Given the description of an element on the screen output the (x, y) to click on. 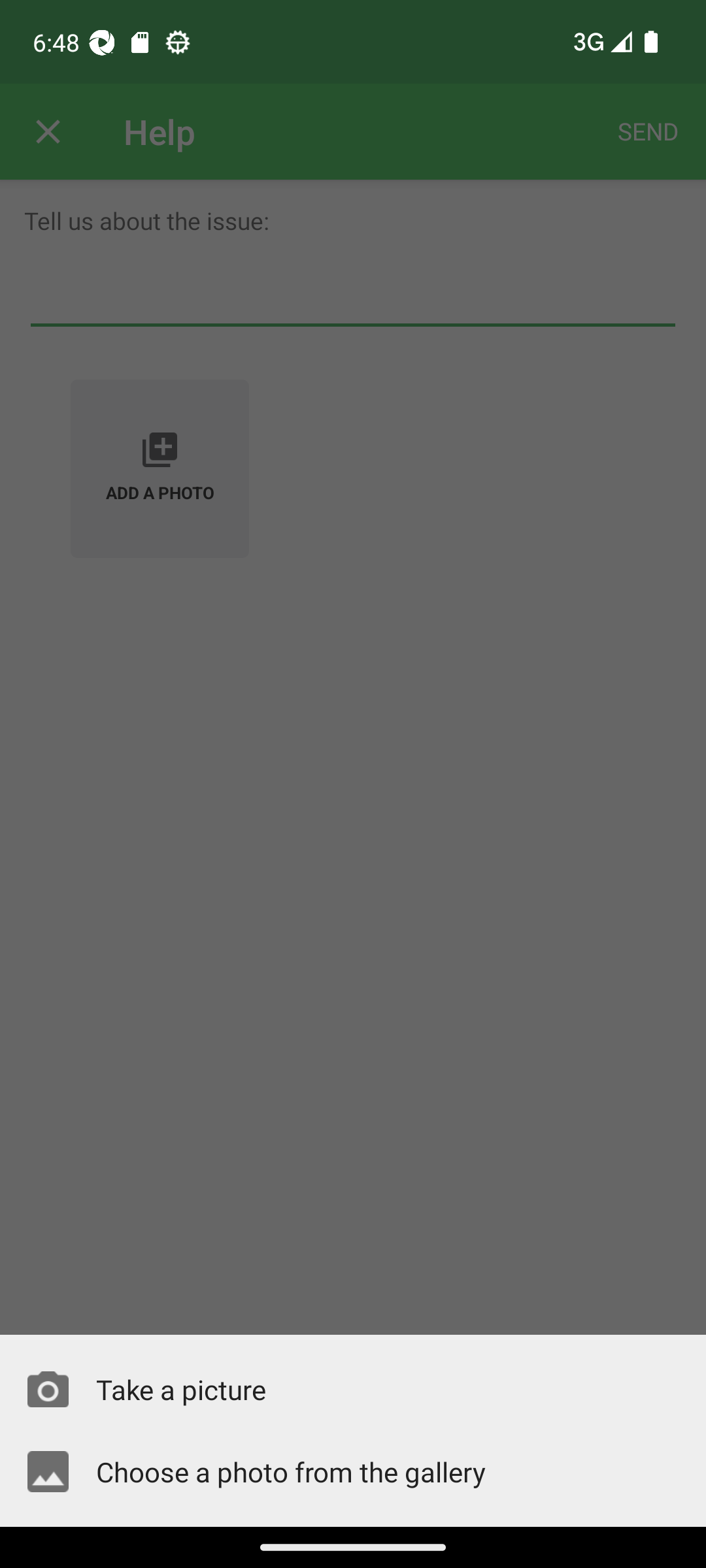
Take a picture (353, 1389)
Choose a photo from the gallery (353, 1471)
